Given the description of an element on the screen output the (x, y) to click on. 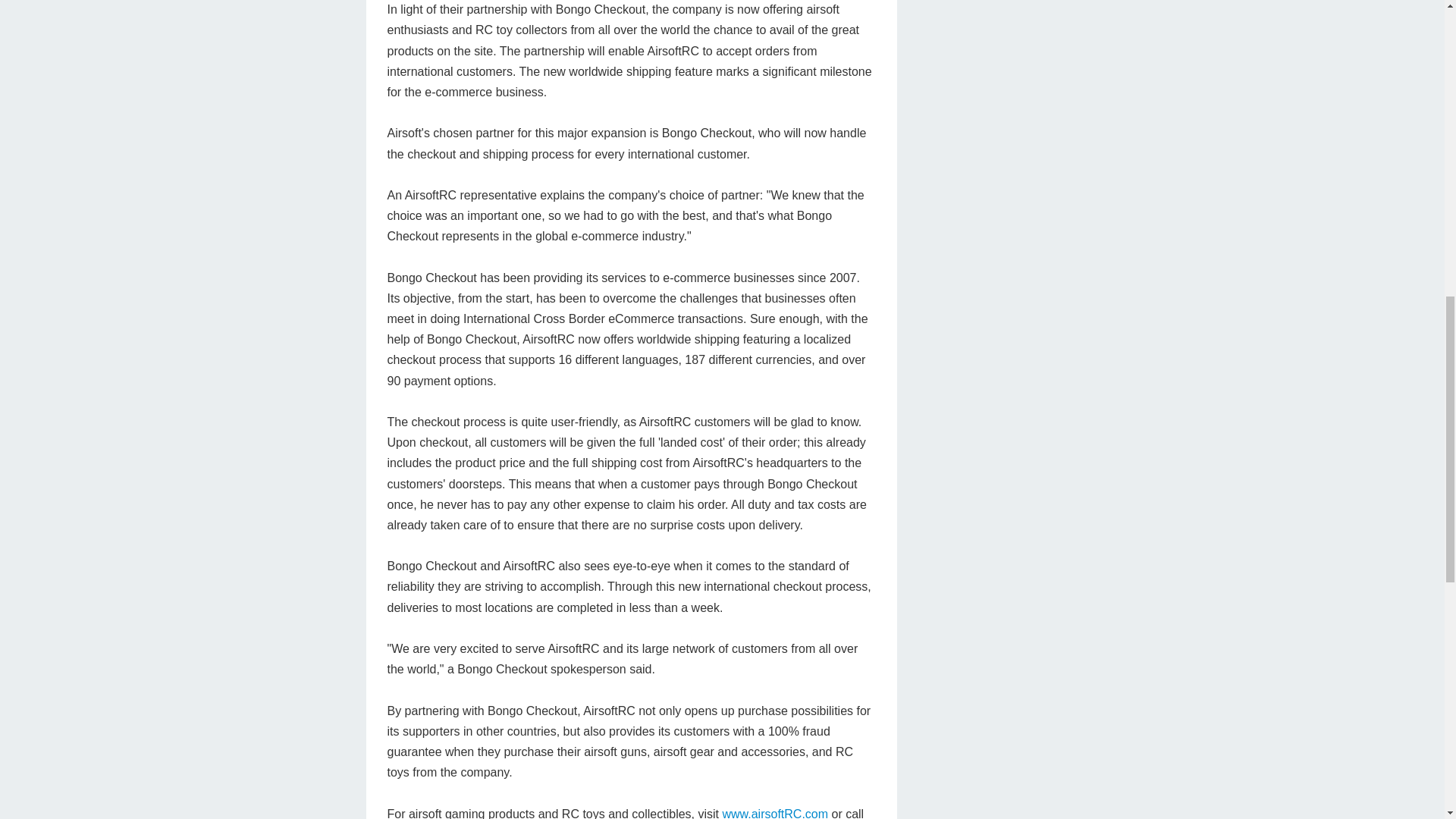
www.airsoftRC.com (775, 813)
